Given the description of an element on the screen output the (x, y) to click on. 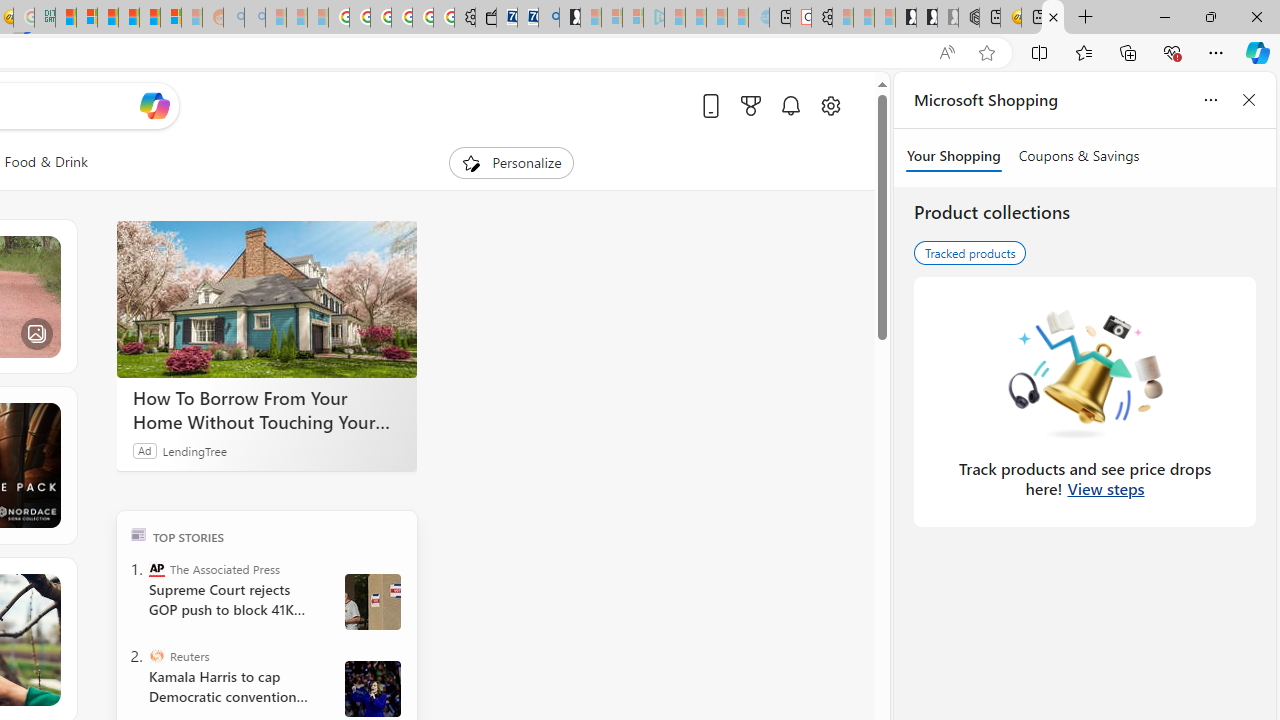
 Harris and Walz campaign in Wisconsin (372, 688)
Cheap Car Rentals - Save70.com (527, 17)
